Given the description of an element on the screen output the (x, y) to click on. 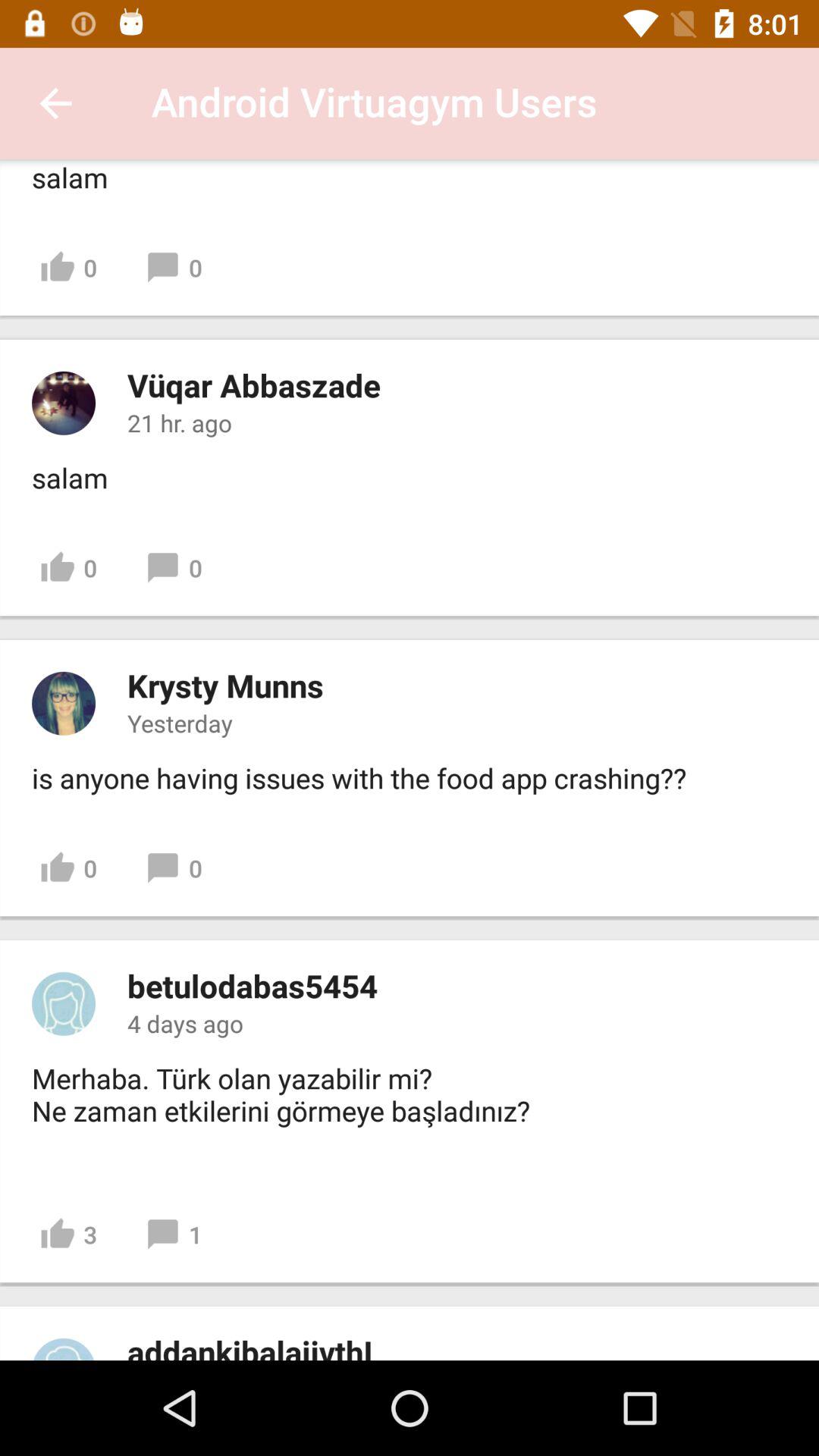
swipe until krysty munns (225, 684)
